Given the description of an element on the screen output the (x, y) to click on. 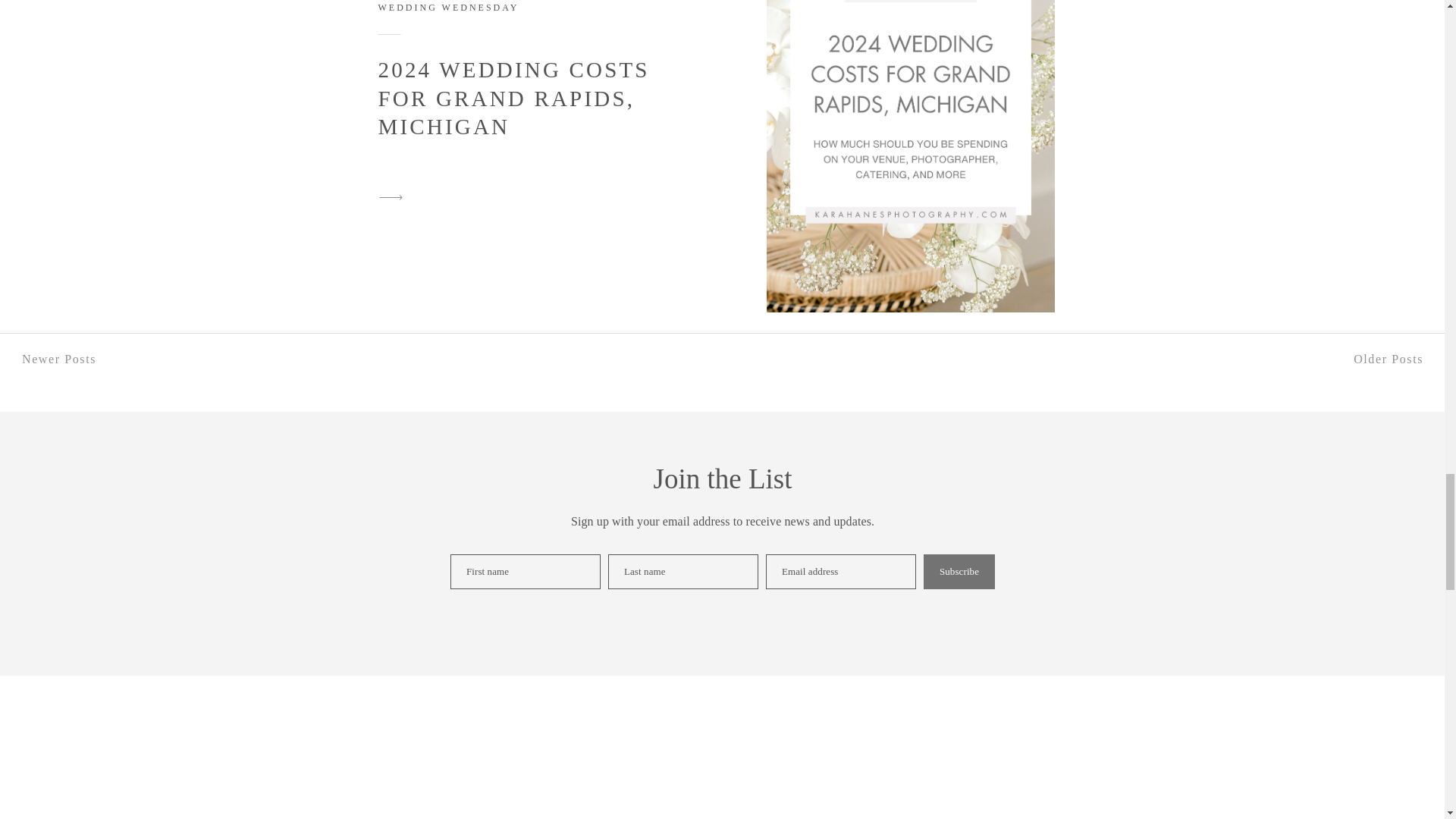
2024 Wedding Costs for Grand Rapids, Michigan (390, 197)
2024 Wedding Costs for Grand Rapids, Michigan (909, 156)
arrow (390, 197)
